Given the description of an element on the screen output the (x, y) to click on. 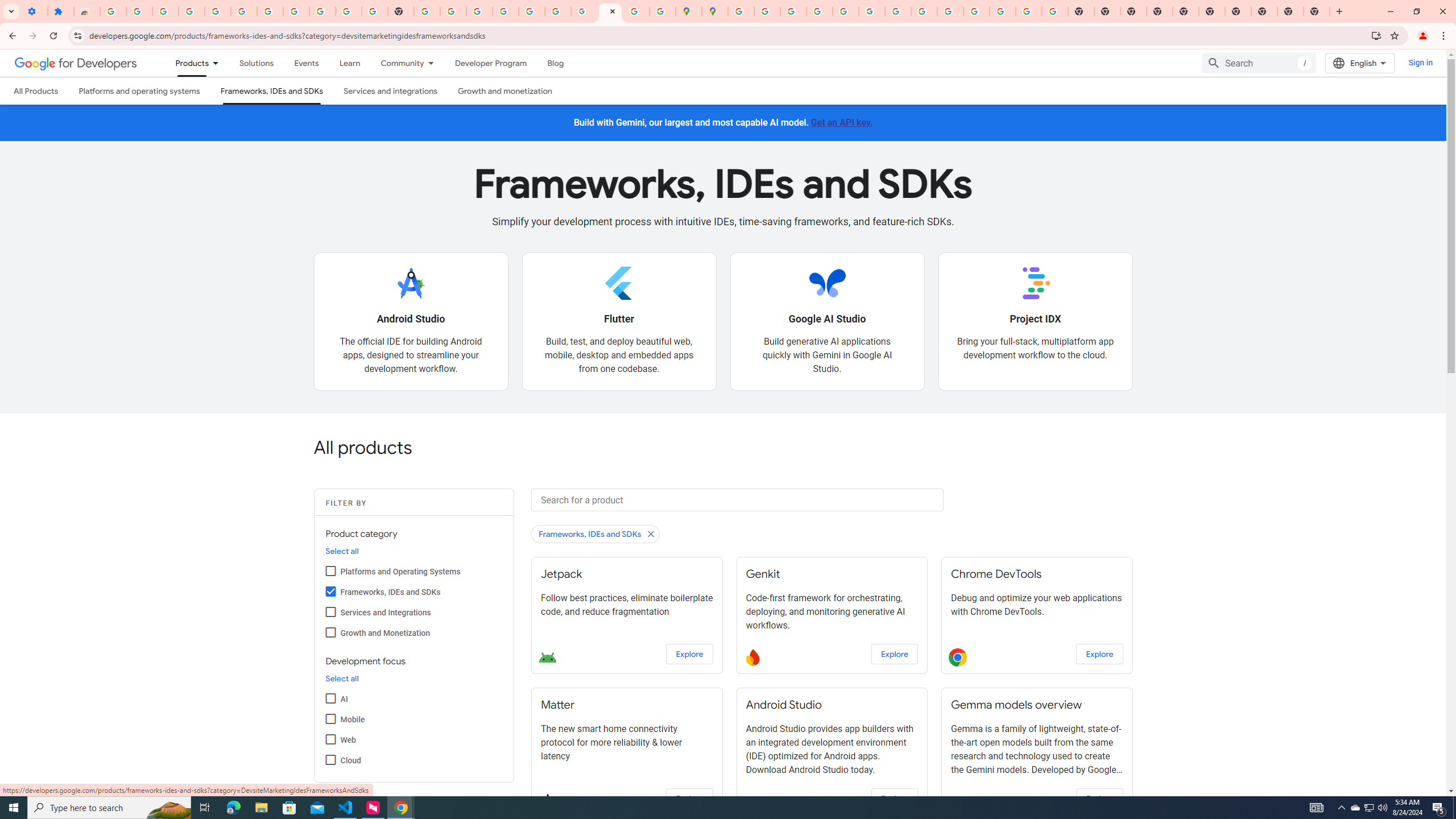
New Tab (1316, 11)
Flutter logo (618, 282)
Developer Program (490, 62)
Sign in - Google Accounts (269, 11)
Remove Frameworks, IDEs and SDKs filter (596, 533)
Learn how to find your photos - Google Photos Help (217, 11)
New Tab (1159, 11)
Install Google Developers (1376, 35)
Mobile (330, 718)
